Given the description of an element on the screen output the (x, y) to click on. 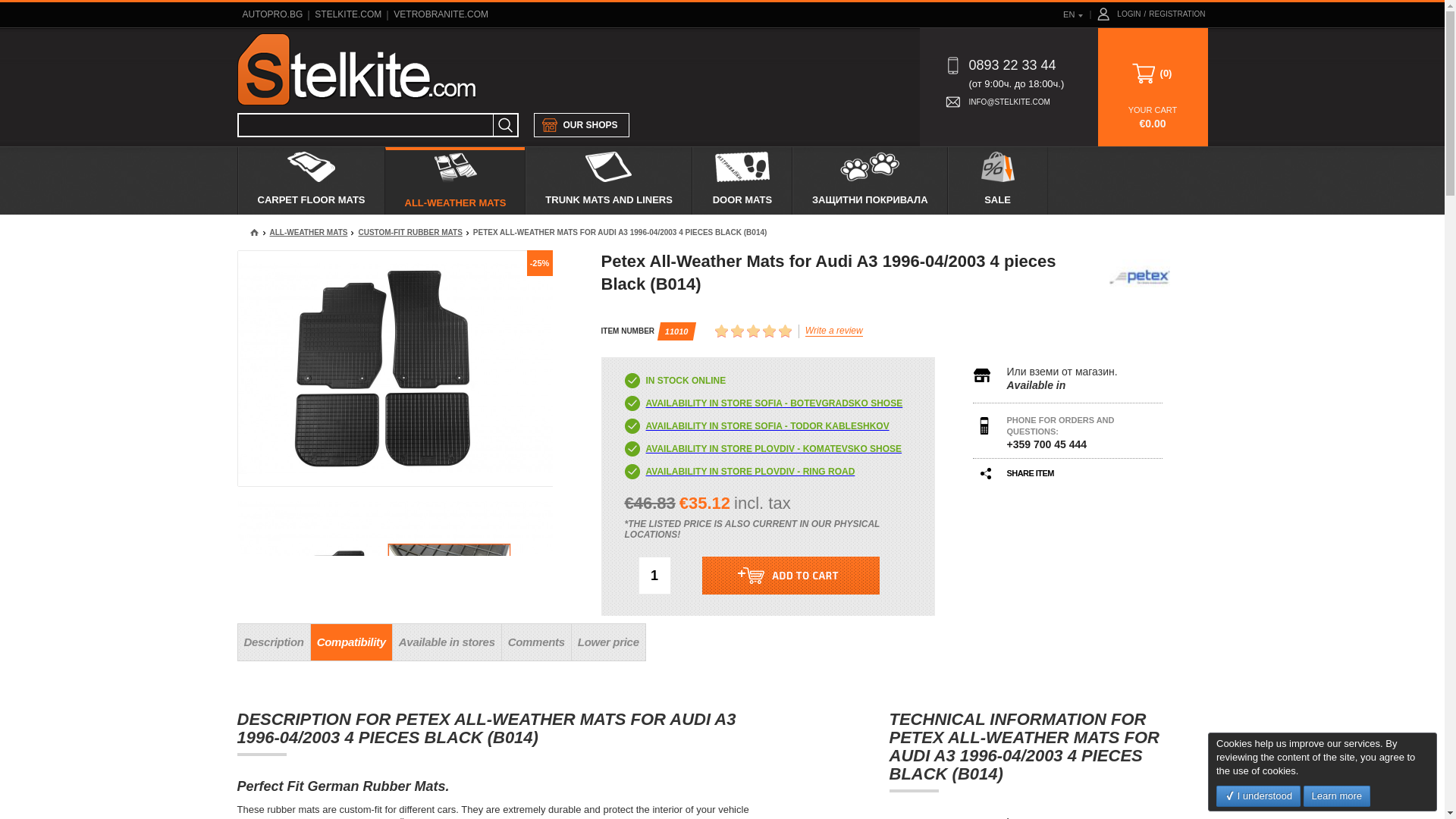
TRUNK MATS AND LINERS (608, 180)
DOOR MATS (742, 180)
Trunk mats and liners (608, 180)
Go (504, 124)
Sale (996, 180)
SALE (996, 180)
Door mats (742, 180)
STELKITE.COM (347, 14)
Go (504, 124)
LOGIN (1128, 14)
0893 22 33 44 (999, 66)
Carpet floor mats (311, 180)
CARPET FLOOR MATS (311, 180)
EN (1070, 14)
ALL-WEATHER MATS (455, 180)
